Given the description of an element on the screen output the (x, y) to click on. 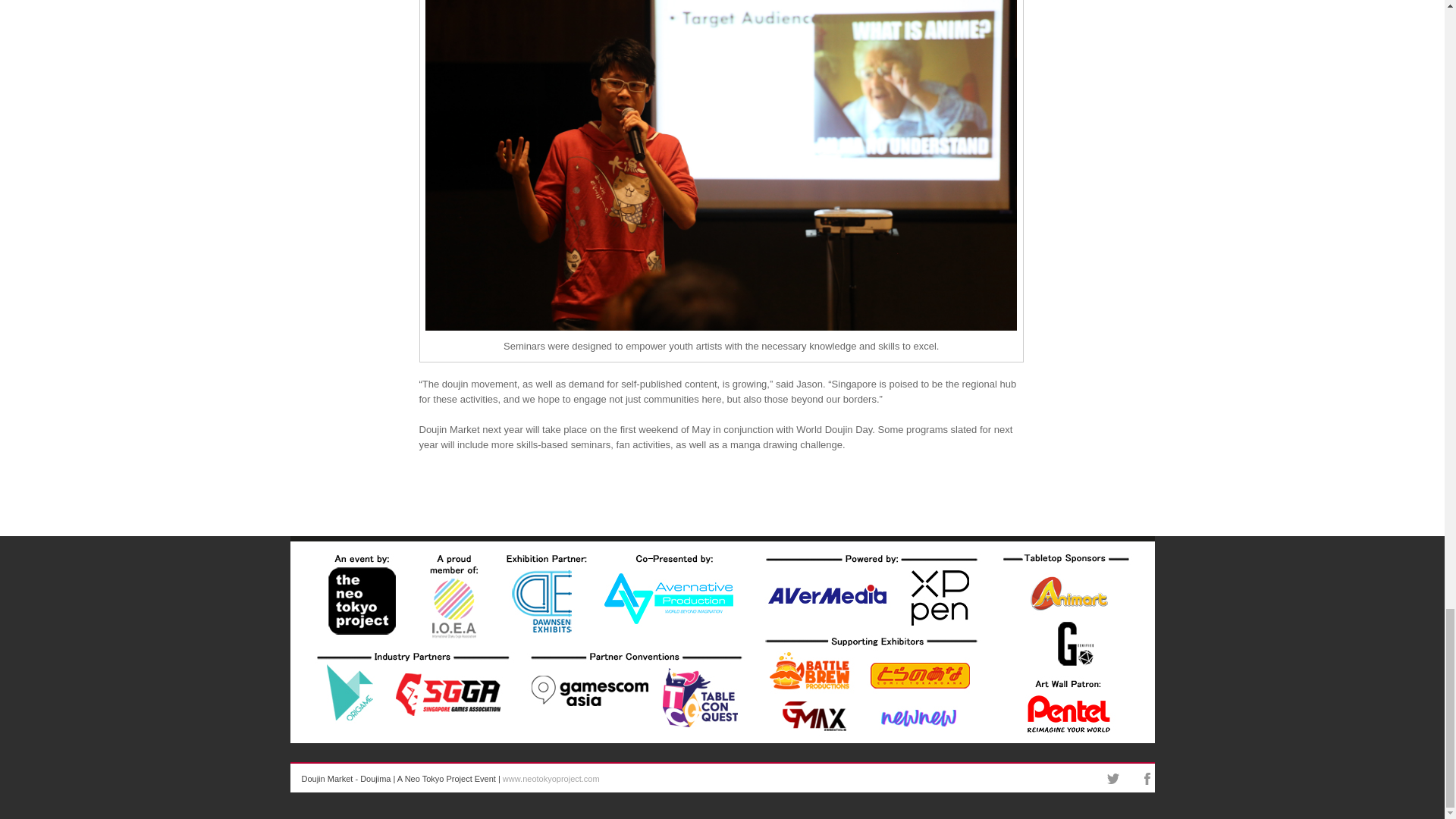
Facebook (1146, 778)
Twitter (1112, 778)
www.neotokyoproject.com (550, 777)
